Given the description of an element on the screen output the (x, y) to click on. 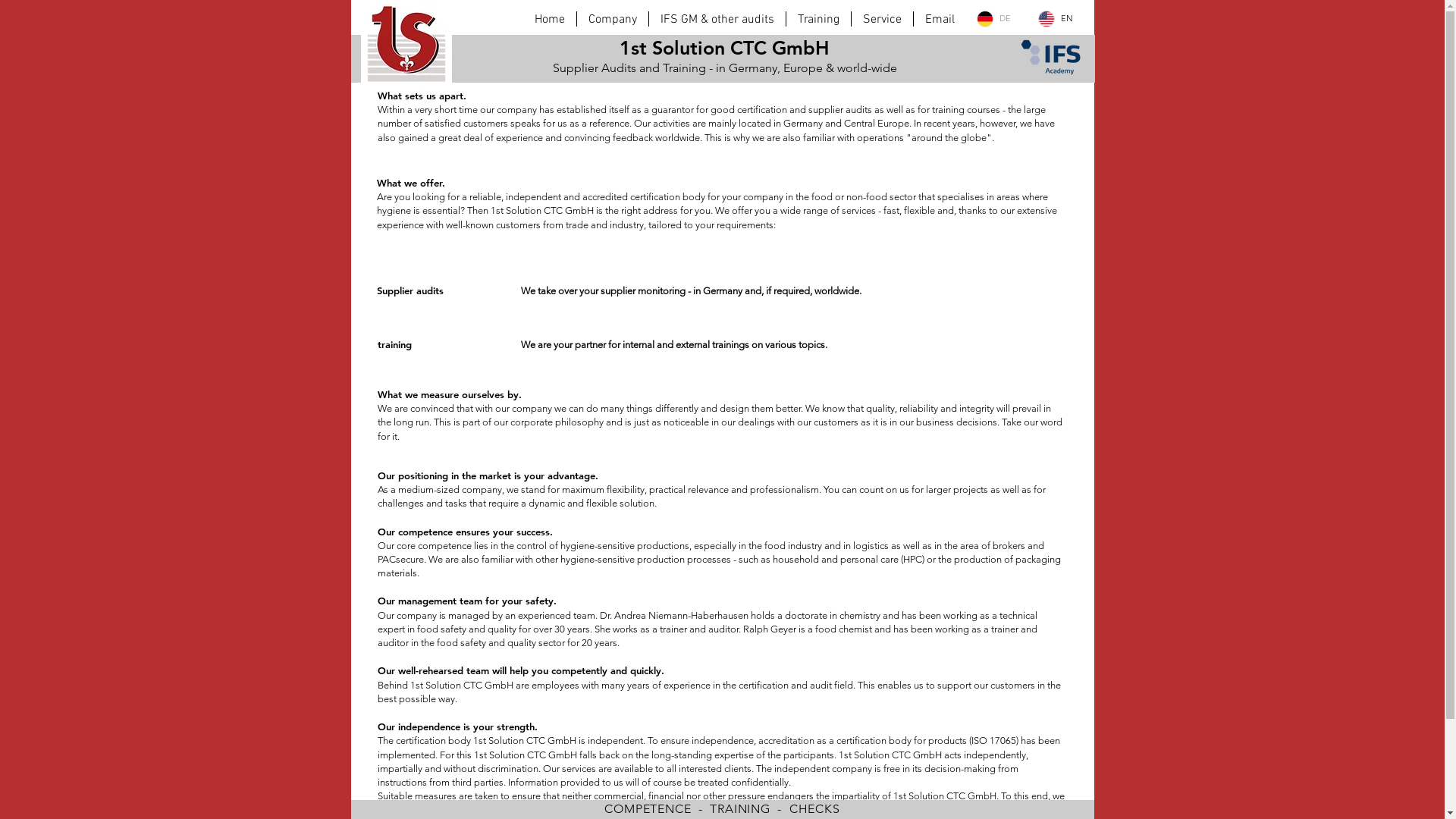
logo cmyk.tif Element type: hover (405, 47)
EN Element type: text (1057, 18)
Email Element type: text (939, 18)
DE Element type: text (996, 18)
Home Element type: text (549, 18)
